Given the description of an element on the screen output the (x, y) to click on. 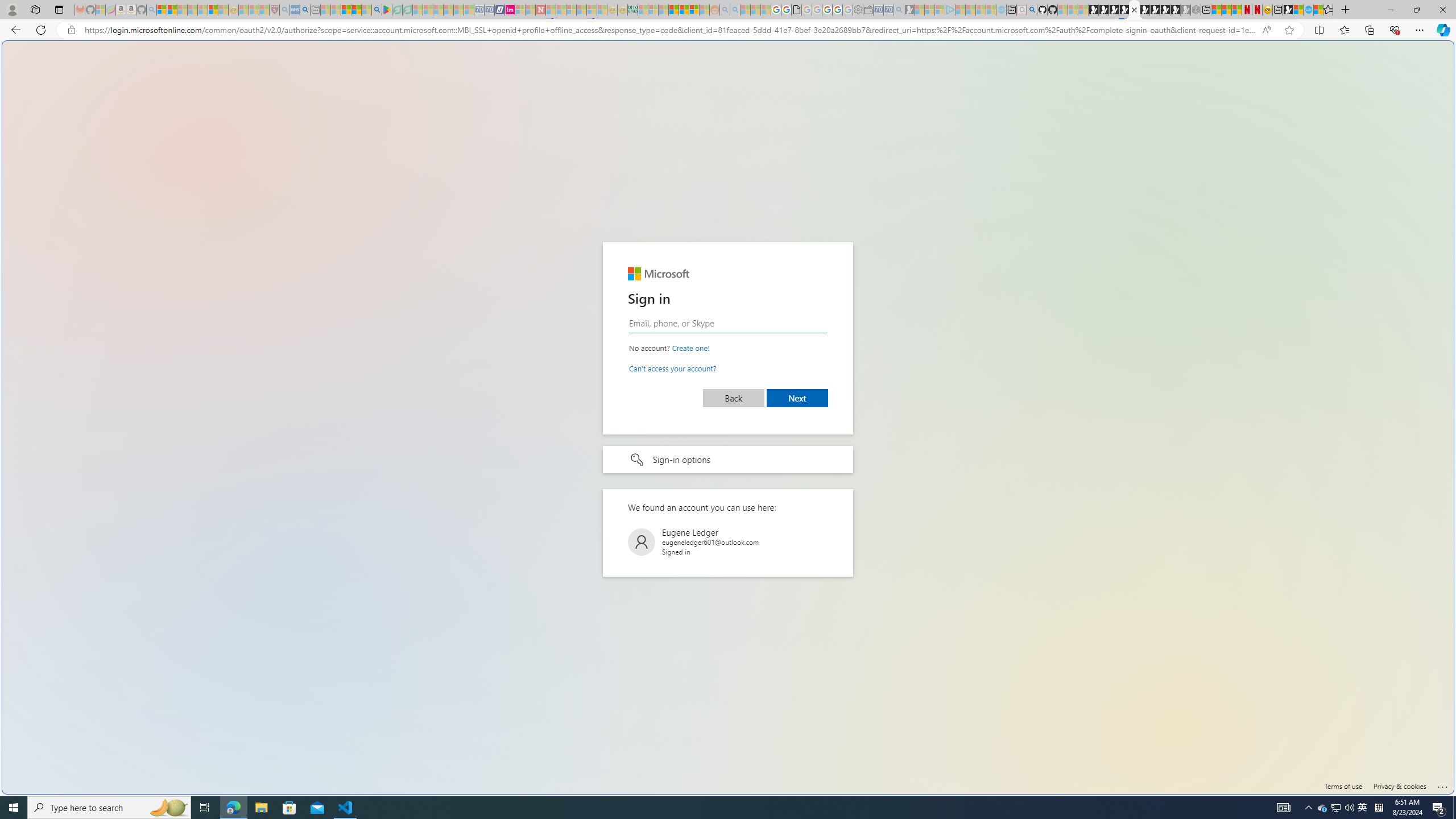
Next (797, 398)
Jobs - lastminute.com Investor Portal (509, 9)
